Given the description of an element on the screen output the (x, y) to click on. 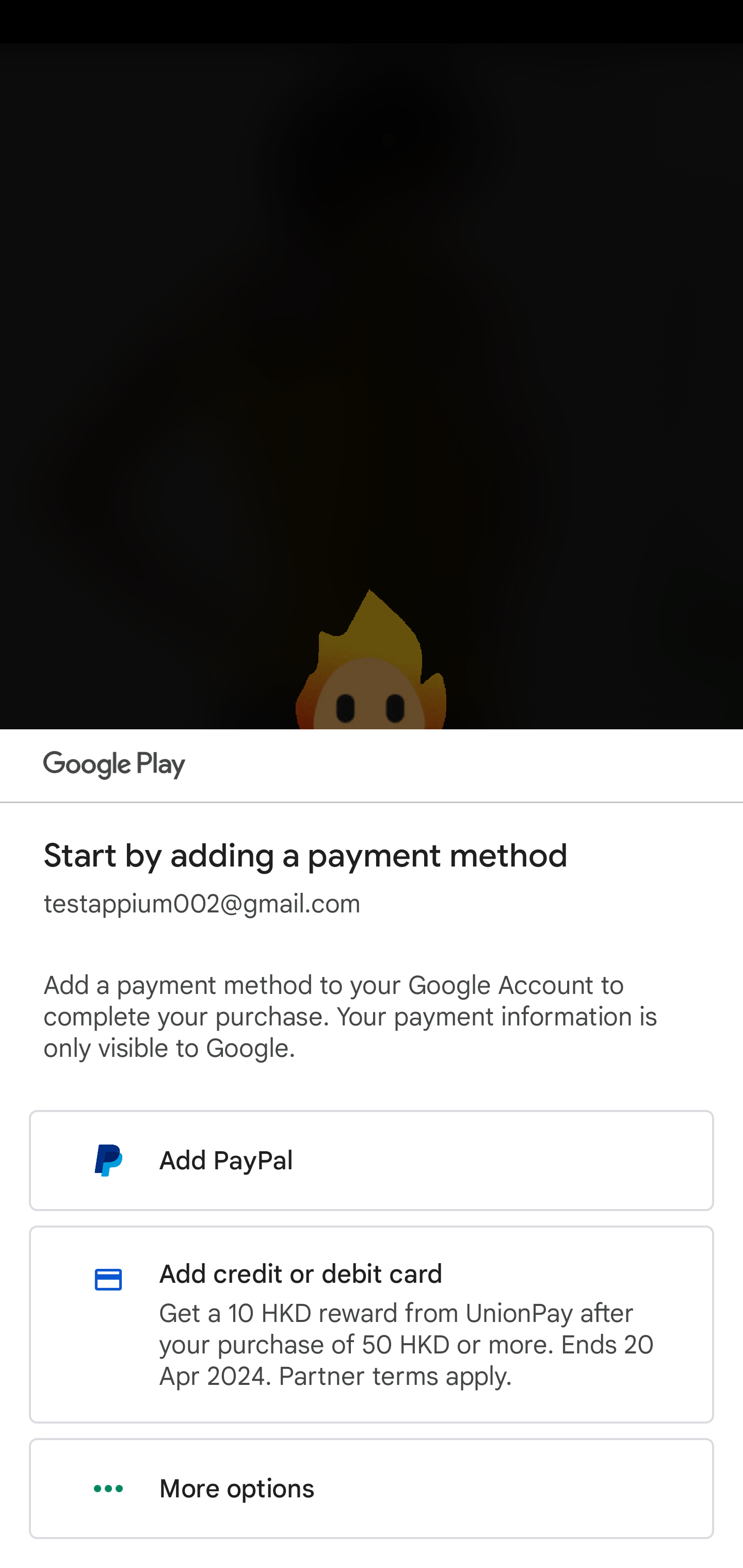
Add PayPal (371, 1160)
More options (371, 1488)
